Given the description of an element on the screen output the (x, y) to click on. 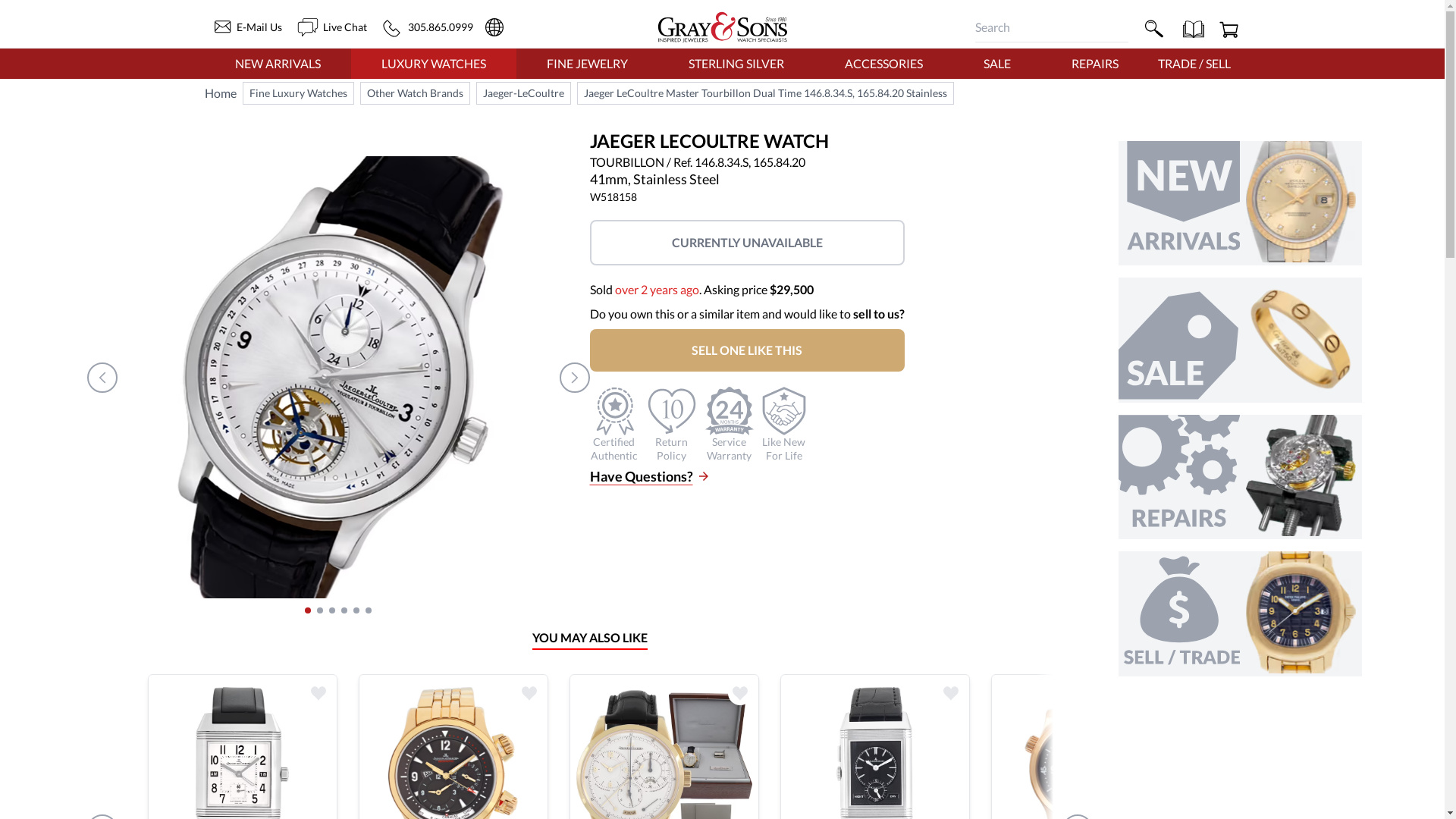
  Live Chat (331, 26)
STERLING SILVER (735, 63)
SALE (997, 63)
  E-Mail Us (243, 26)
  305.865.0999 (427, 26)
FINE JEWELRY (587, 63)
LUXURY WATCHES (433, 63)
April 29, 2016 (656, 288)
Search (1152, 27)
NEW ARRIVALS (277, 63)
REPAIRS (1094, 63)
ACCESSORIES (883, 63)
